Given the description of an element on the screen output the (x, y) to click on. 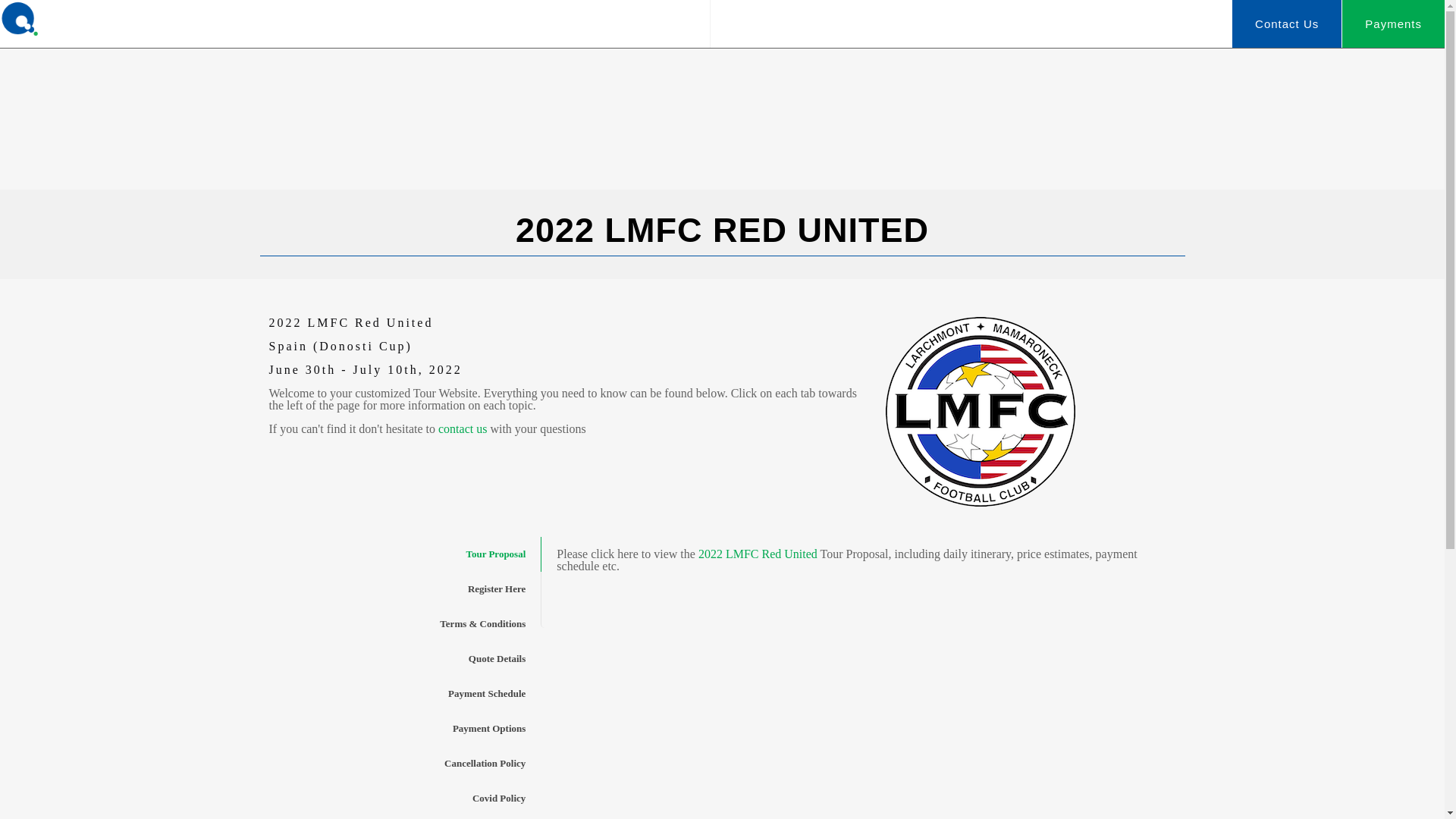
contact us (462, 428)
Payment Schedule (403, 693)
Payment Options (403, 728)
Register Here (403, 588)
Why Us? (759, 23)
Contact Us (1285, 23)
Resources (1177, 23)
Quote Details (403, 658)
Tour Proposal (403, 554)
Testimonials (866, 23)
Covid Policy (403, 798)
Destinations (1066, 23)
Quest Sports Travel (83, 18)
Sports (965, 23)
Insurance (403, 817)
